Given the description of an element on the screen output the (x, y) to click on. 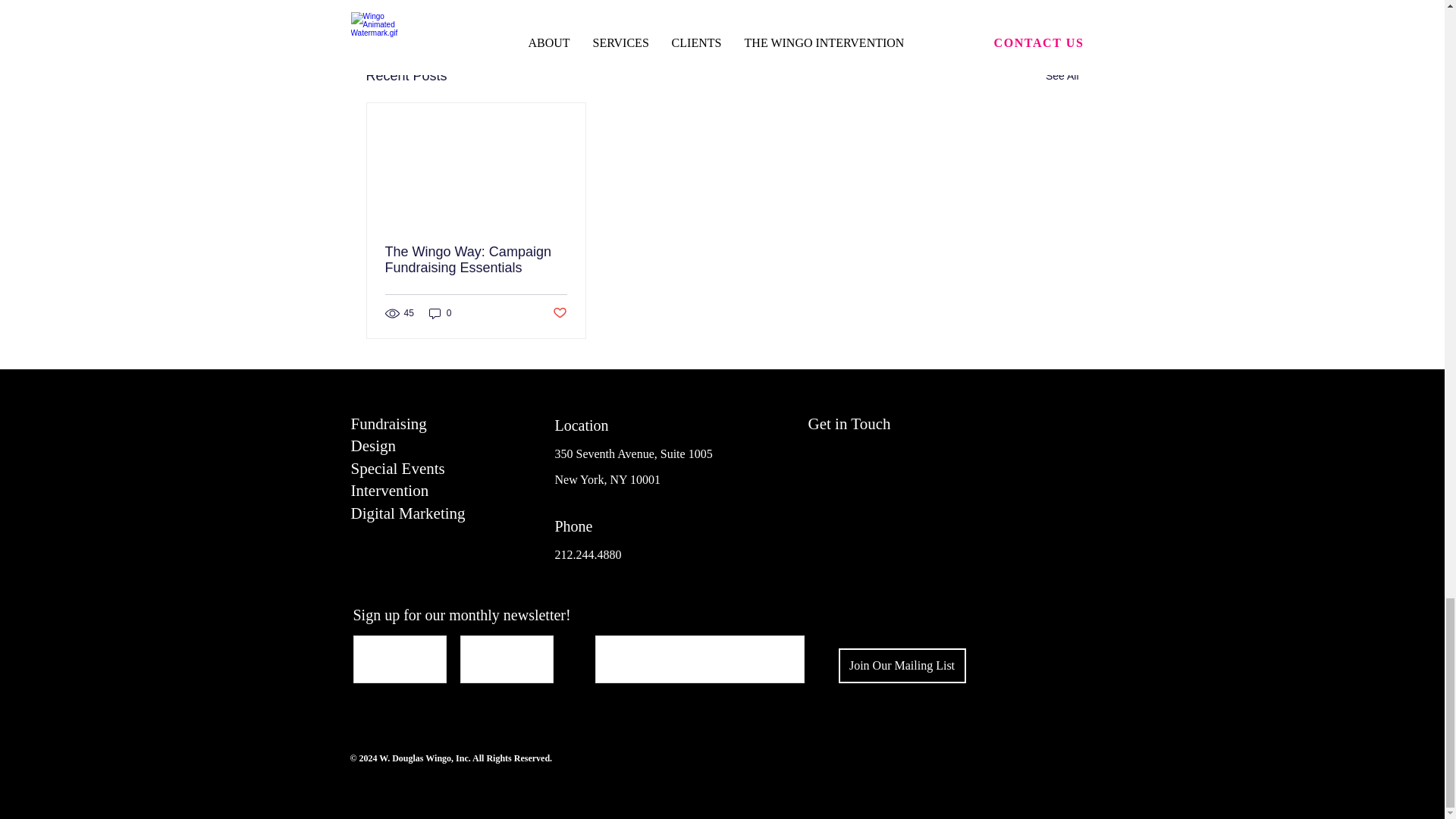
Post not marked as liked (558, 312)
The Wingo Way: Campaign Fundraising Essentials (476, 260)
Fundraising (388, 423)
See All (1061, 75)
0 (440, 313)
